Given the description of an element on the screen output the (x, y) to click on. 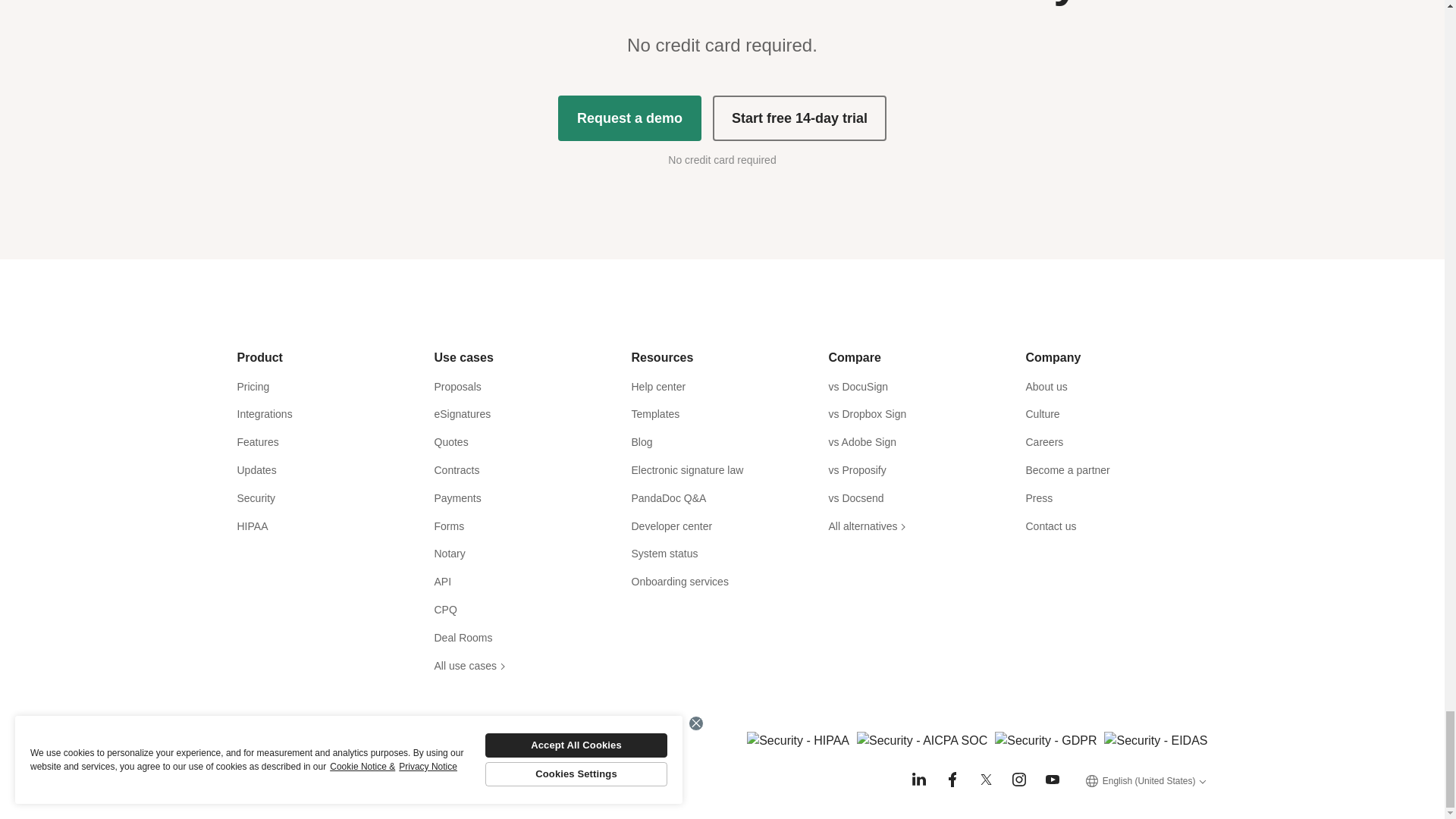
Youtube (1052, 779)
LinkedIn (919, 779)
Instagram (1018, 779)
Facebook (951, 779)
Twitter (985, 779)
